Given the description of an element on the screen output the (x, y) to click on. 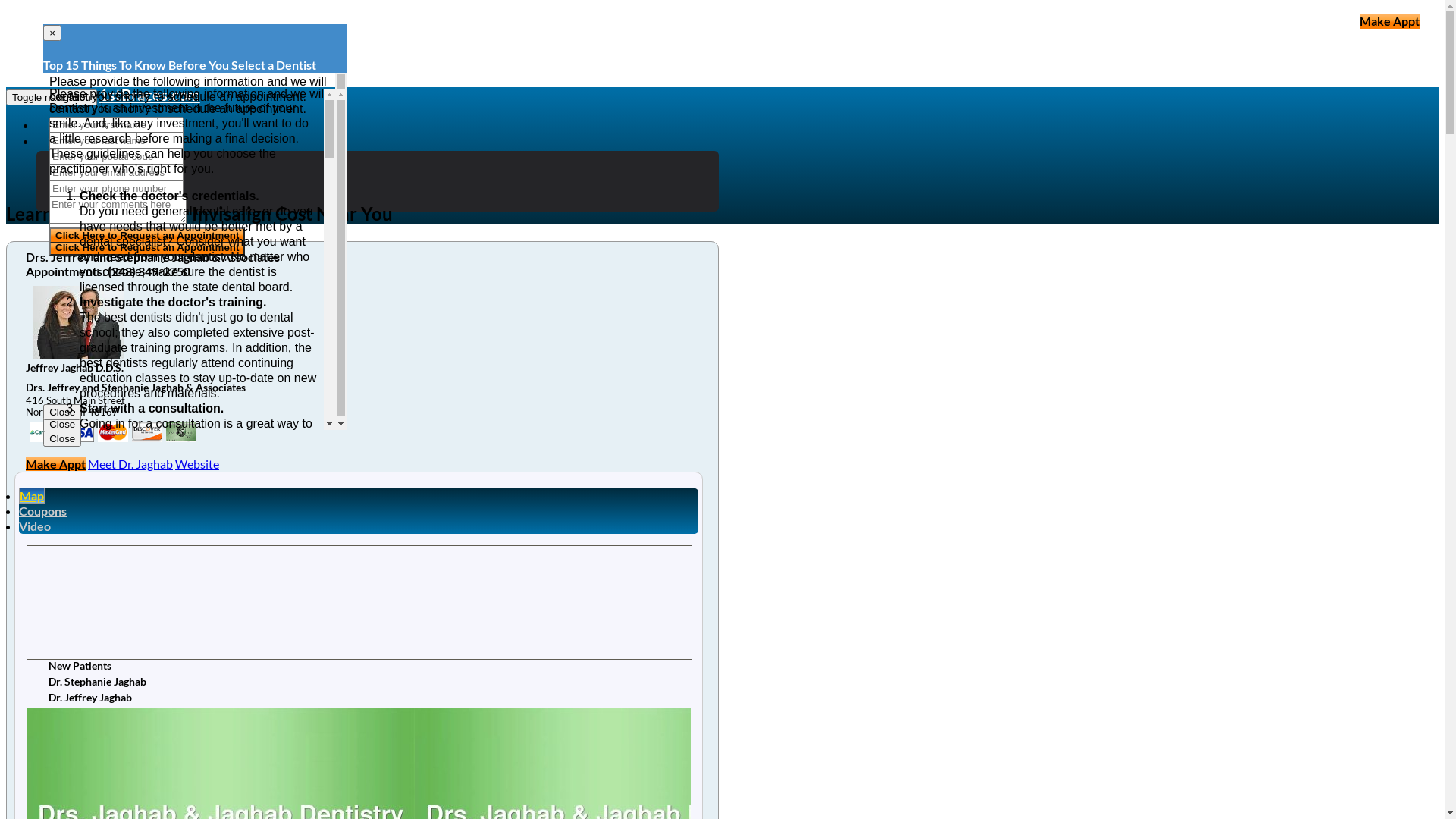
Make Appt Element type: text (1389, 20)
Orthodontist Element type: text (101, 203)
Coupons Element type: text (42, 510)
my title Element type: hover (181, 431)
my title Element type: hover (146, 431)
Make Appt Element type: text (55, 463)
Close Element type: text (62, 438)
1stBraces.com Element type: text (149, 94)
Video Element type: text (34, 525)
Close Element type: text (62, 412)
Invisalign Element type: text (91, 173)
Orthodontics Element type: text (102, 157)
Toggle navigation Element type: text (51, 97)
Clear Braces Element type: text (98, 188)
Meet Dr. Jaghab Element type: text (129, 463)
Braces Articles Element type: text (80, 141)
Home Element type: text (60, 125)
Map Element type: text (31, 495)
my title Element type: hover (44, 431)
Close Element type: text (62, 424)
my title Element type: hover (112, 431)
Website Element type: text (197, 463)
my title Element type: hover (78, 431)
